Given the description of an element on the screen output the (x, y) to click on. 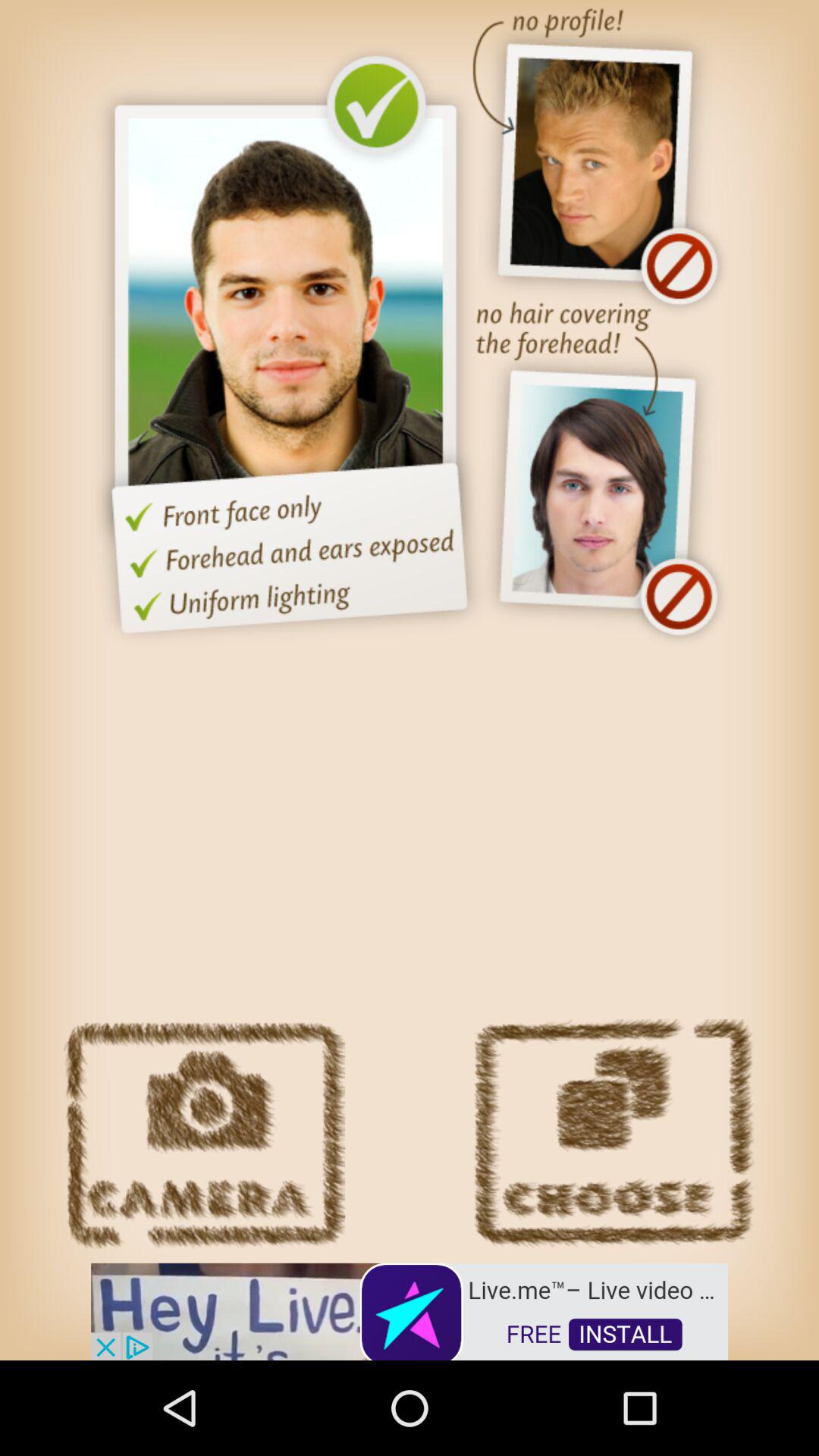
camera icon (204, 1133)
